Given the description of an element on the screen output the (x, y) to click on. 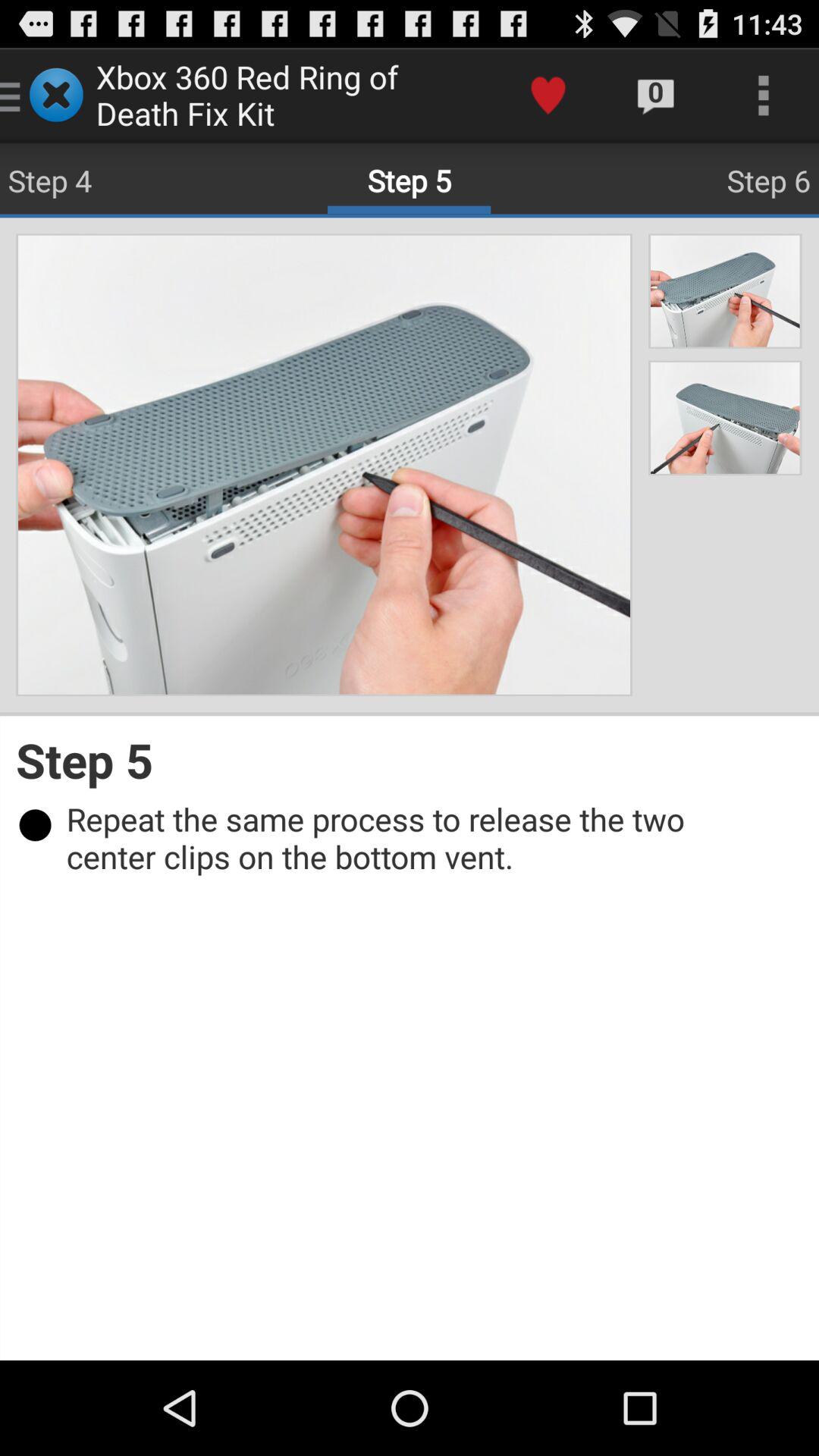
launch the item next to the xbox 360 red icon (548, 95)
